Given the description of an element on the screen output the (x, y) to click on. 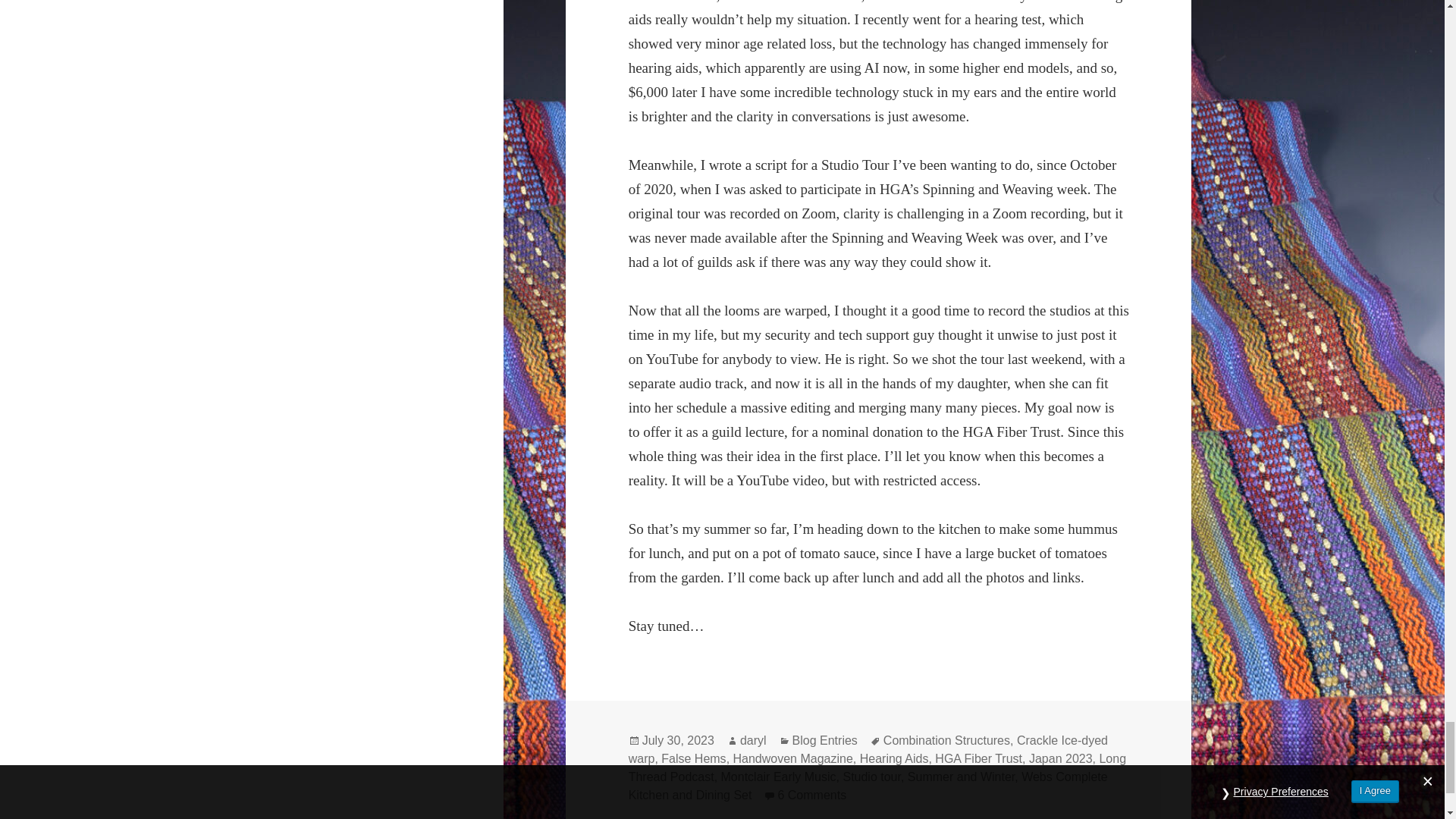
Summer and Winter (960, 776)
Combination Structures (946, 740)
Studio tour (872, 776)
Montclair Early Music (777, 776)
False Hems (693, 758)
Long Thread Podcast (876, 767)
July 30, 2023 (678, 740)
Crackle Ice-dyed warp (868, 749)
daryl (753, 740)
Japan 2023 (1061, 758)
